Given the description of an element on the screen output the (x, y) to click on. 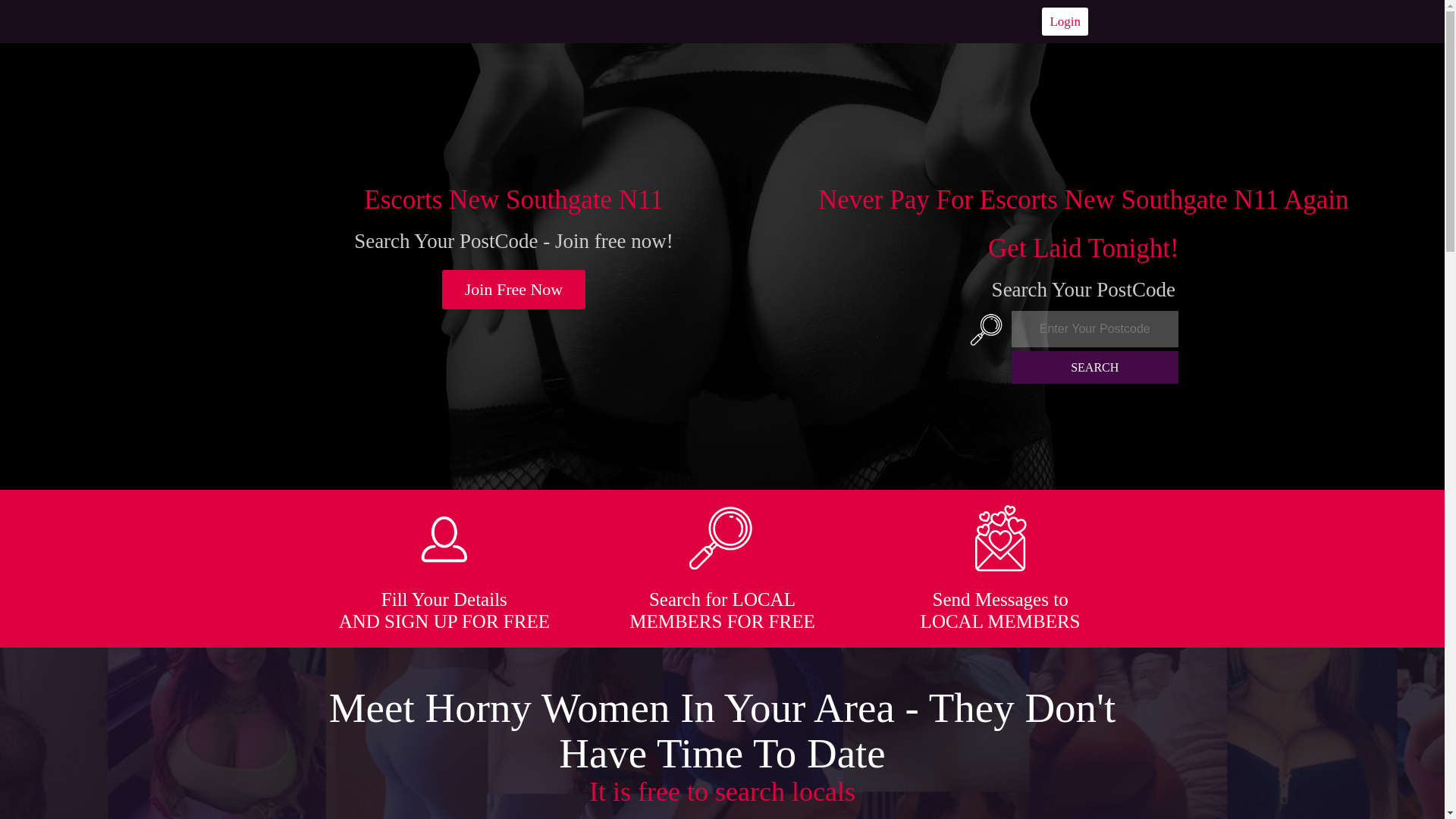
Login (1064, 21)
SEARCH (1094, 367)
Join (514, 289)
Login to escort-london.uk (1064, 21)
Join Free Now (514, 289)
